Given the description of an element on the screen output the (x, y) to click on. 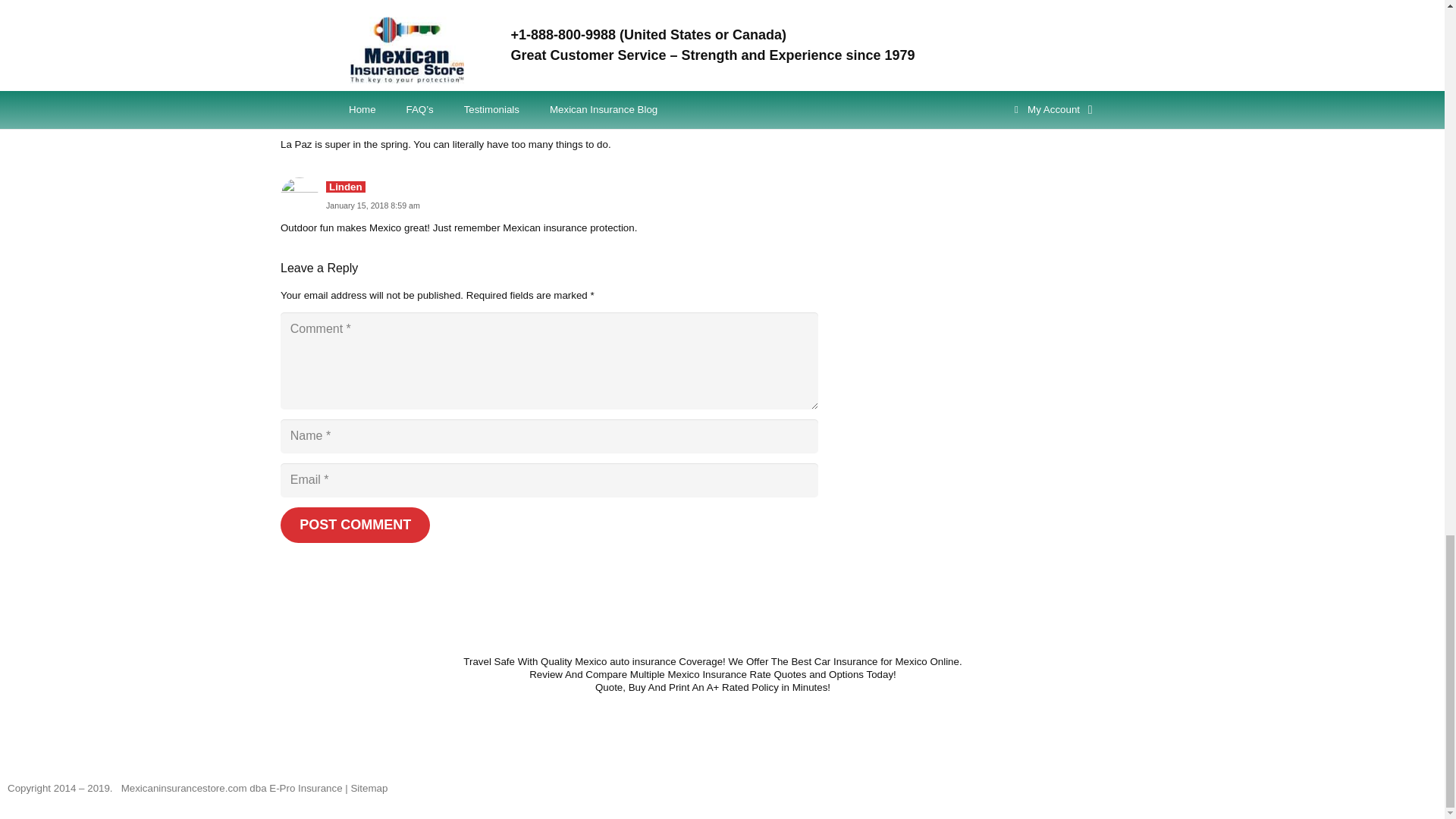
Linden (345, 19)
January 14, 2018 5:31 pm (373, 121)
September 18, 2017 9:27 pm (378, 38)
POST COMMENT (355, 524)
January 15, 2018 8:59 am (373, 204)
January 14, 2018 5:31 pm (373, 121)
September 18, 2017 9:27 pm (378, 38)
Linden (345, 186)
January 15, 2018 8:59 am (373, 204)
